Given the description of an element on the screen output the (x, y) to click on. 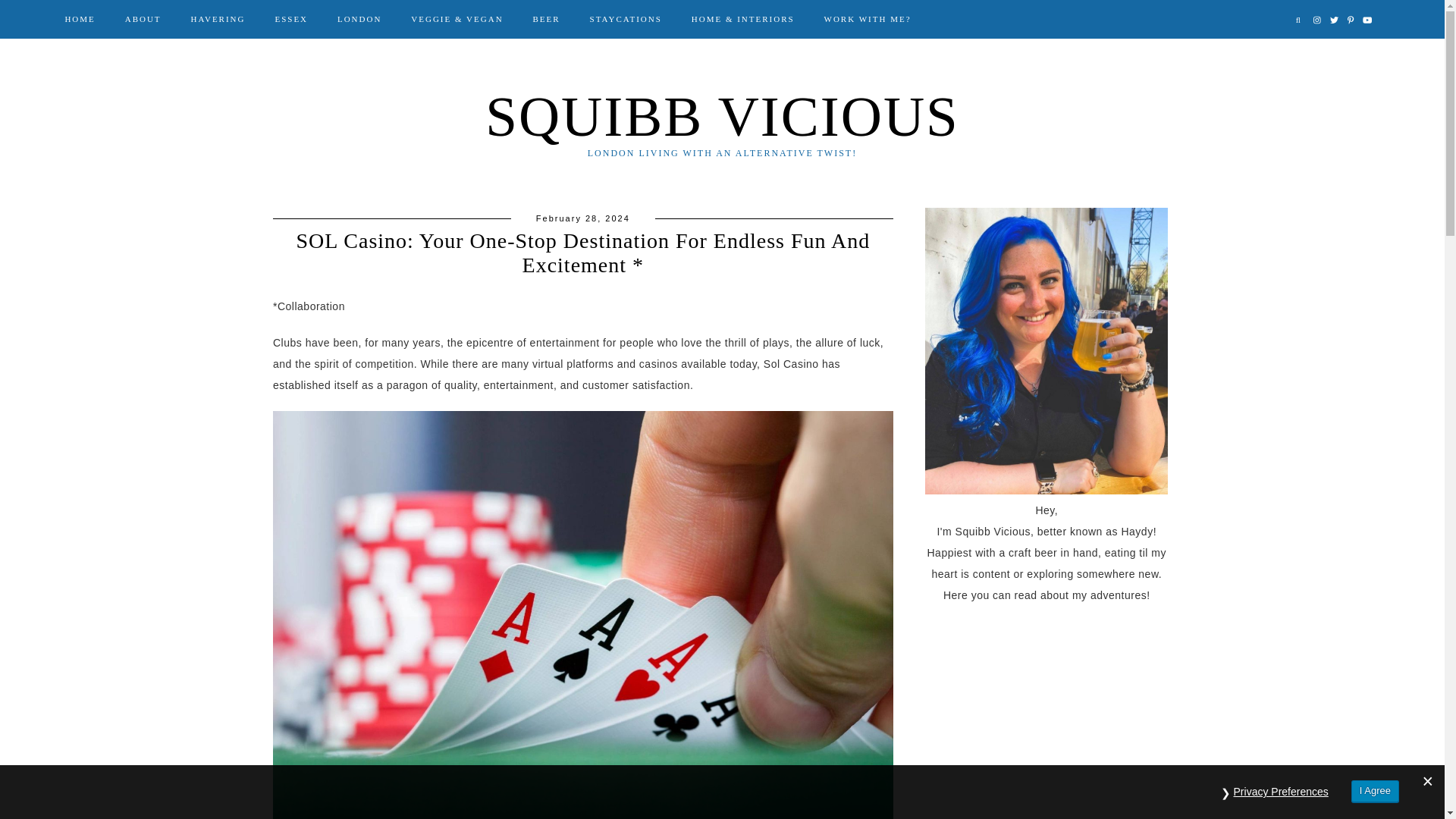
BEER (546, 18)
LONDON (359, 18)
WORK WITH ME? (867, 18)
ABOUT (143, 18)
HOME (79, 18)
ESSEX (290, 18)
STAYCATIONS (625, 18)
SQUIBB VICIOUS (721, 116)
HAVERING (218, 18)
